Given the description of an element on the screen output the (x, y) to click on. 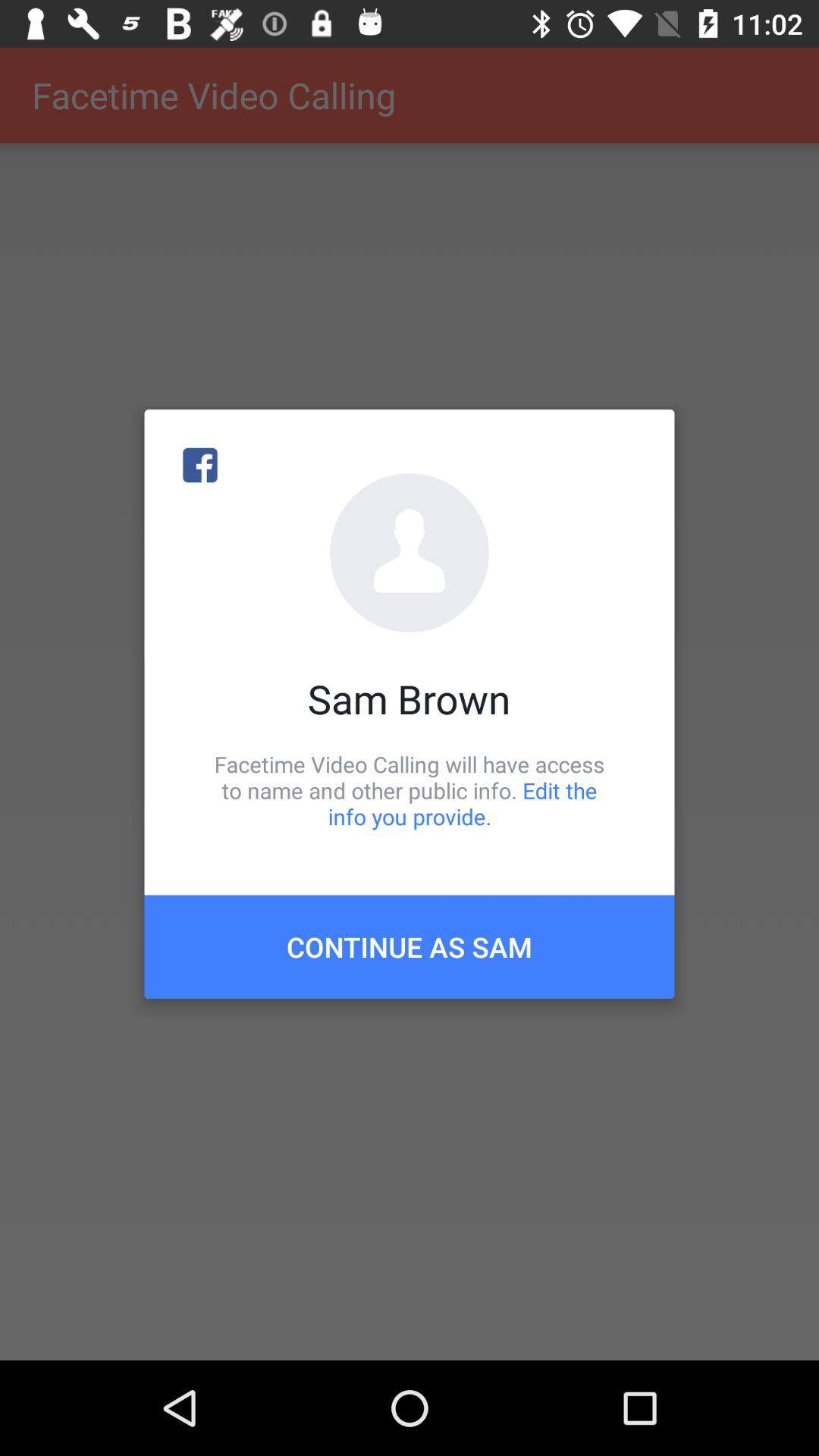
choose the facetime video calling (409, 790)
